Given the description of an element on the screen output the (x, y) to click on. 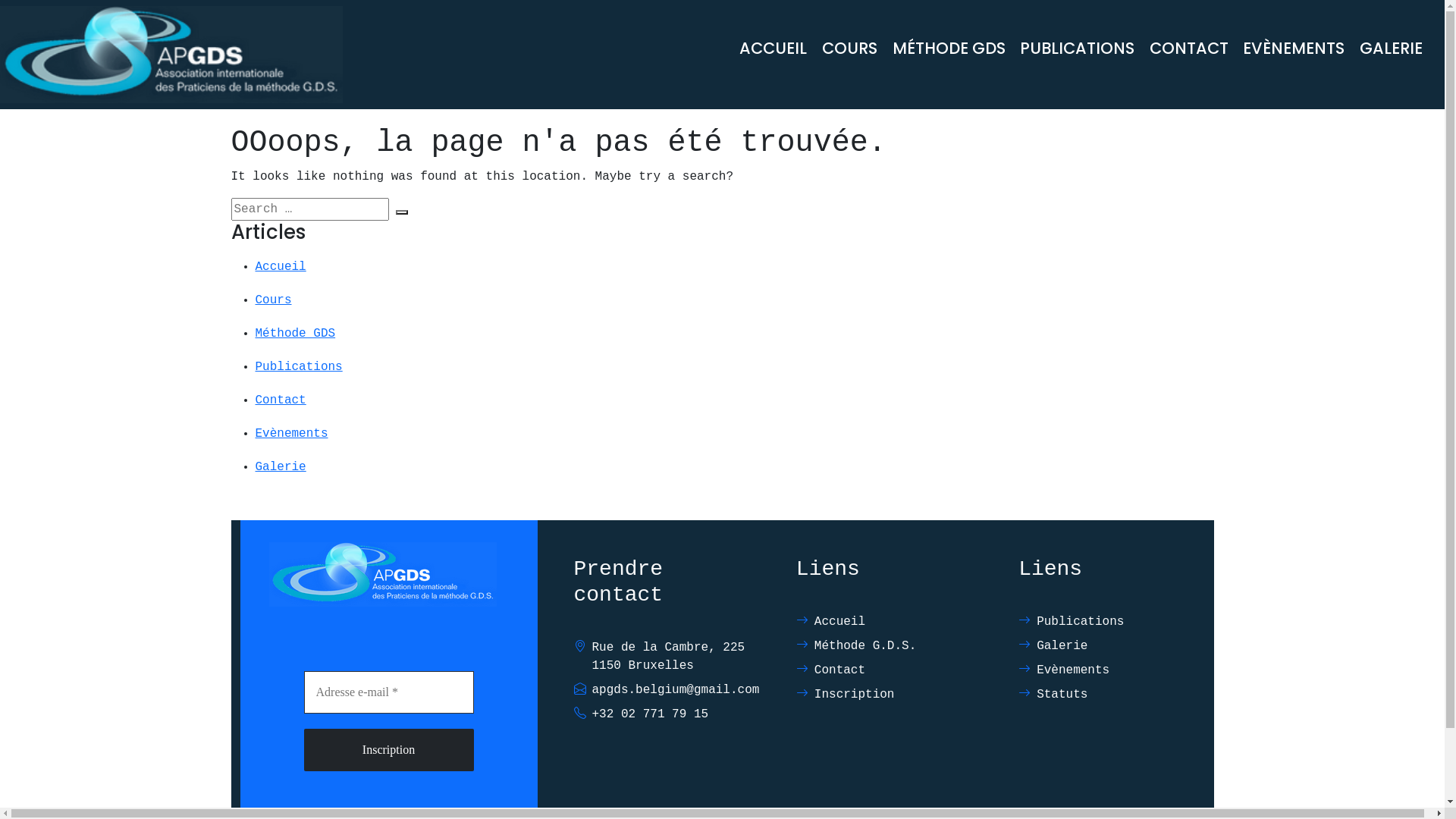
CONTACT Element type: text (1188, 48)
Inscription Element type: text (388, 749)
Inscription Element type: text (889, 694)
GALERIE Element type: text (1390, 48)
Galerie Element type: text (279, 466)
Contact Element type: text (279, 400)
Cours Element type: text (272, 300)
Galerie Element type: text (1111, 646)
Publications Element type: text (1111, 621)
Accueil Element type: text (889, 621)
Statuts Element type: text (1111, 694)
Publications Element type: text (298, 366)
ACCUEIL Element type: text (772, 48)
COURS Element type: text (849, 48)
PUBLICATIONS Element type: text (1076, 48)
Accueil Element type: text (279, 266)
Adresse e-mail Element type: hover (388, 692)
Contact Element type: text (889, 670)
